Given the description of an element on the screen output the (x, y) to click on. 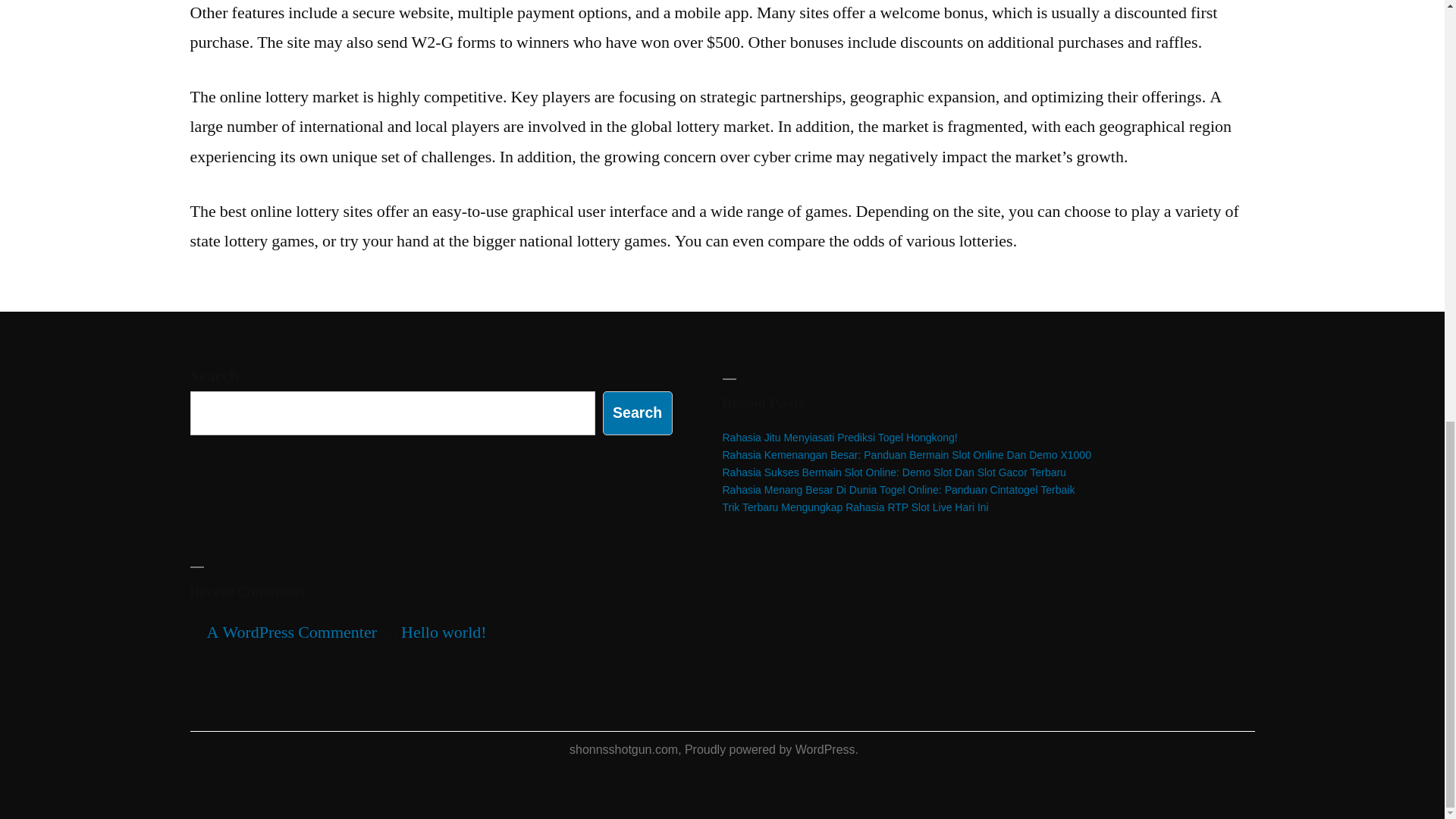
Search (637, 412)
Trik Terbaru Mengungkap Rahasia RTP Slot Live Hari Ini (855, 507)
shonnsshotgun.com (623, 748)
Rahasia Jitu Menyiasati Prediksi Togel Hongkong! (839, 437)
Proudly powered by WordPress. (771, 748)
Hello world! (443, 631)
A WordPress Commenter (291, 631)
